Given the description of an element on the screen output the (x, y) to click on. 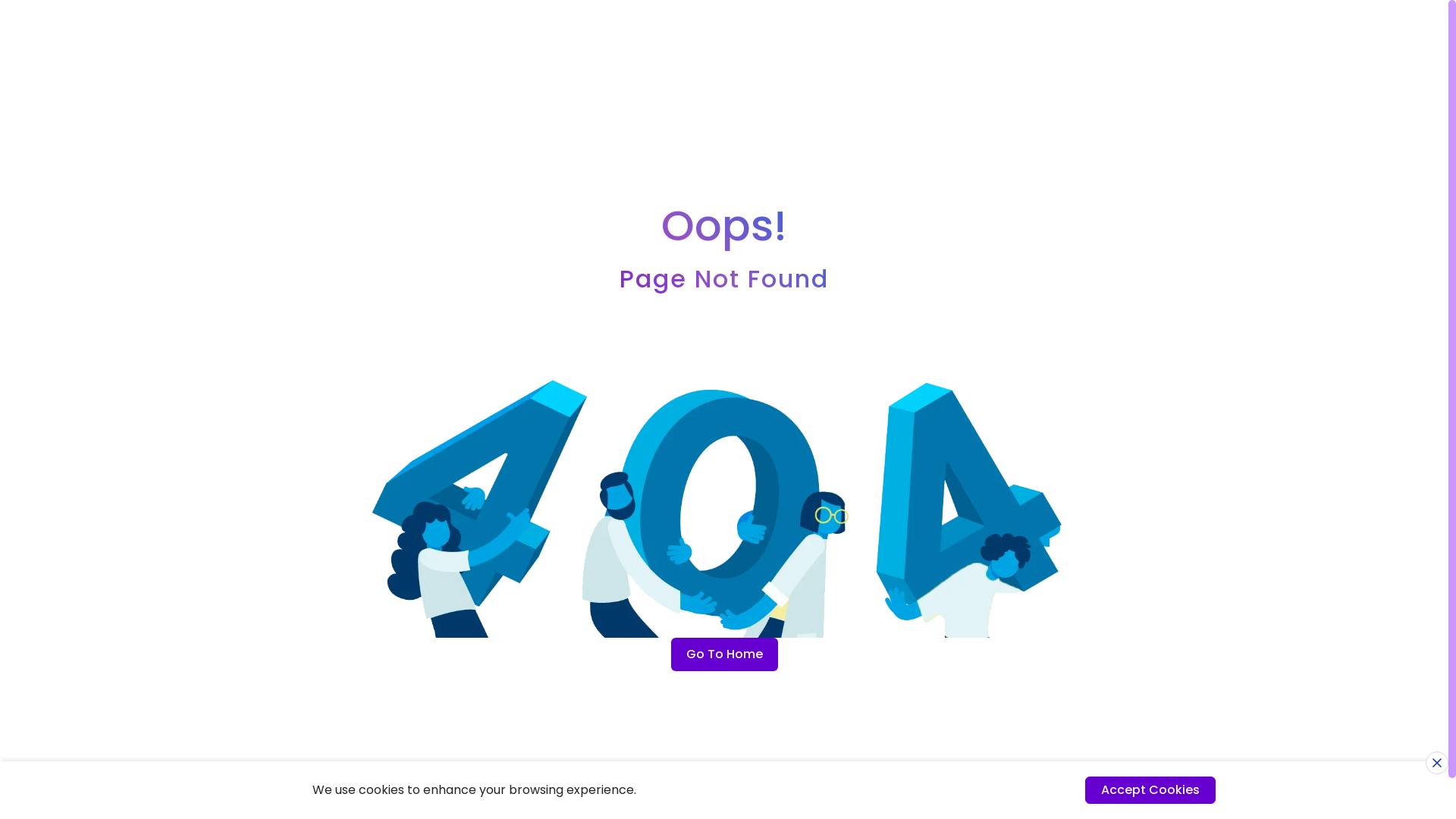
Accept Cookies Element type: text (1150, 789)
Go To Home Element type: text (723, 654)
